Given the description of an element on the screen output the (x, y) to click on. 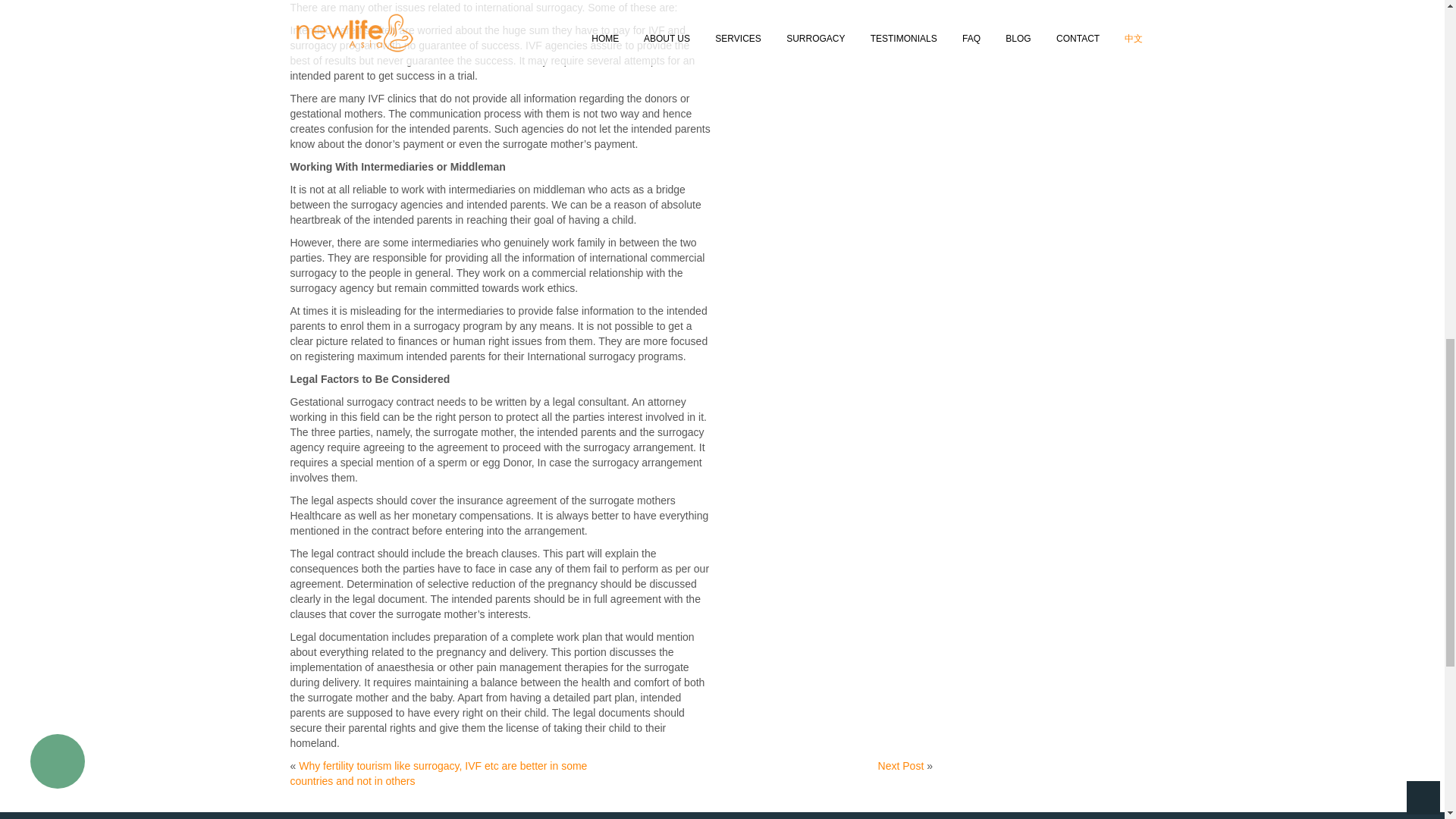
Next Post (900, 766)
